Given the description of an element on the screen output the (x, y) to click on. 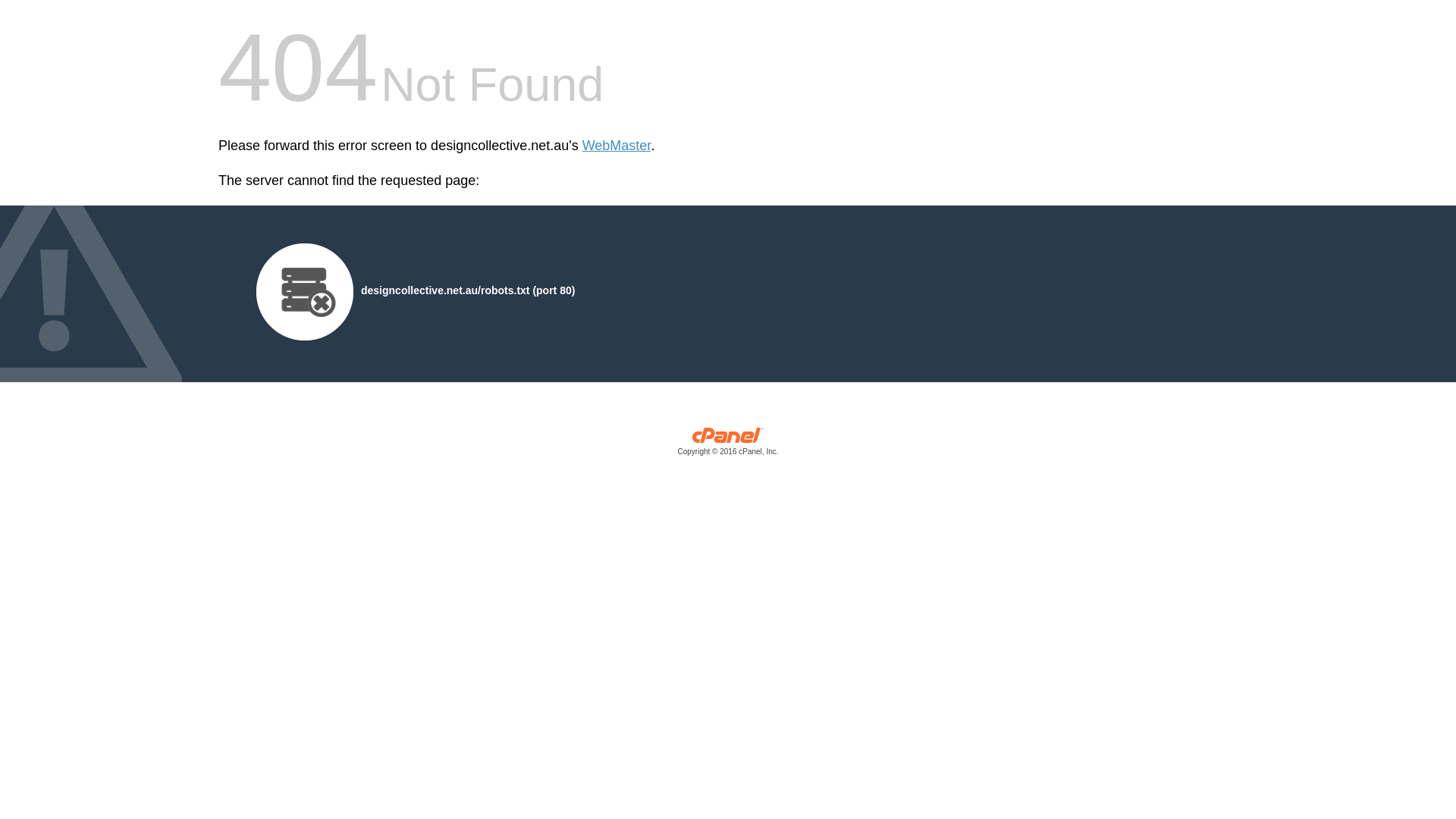
WebMaster Element type: text (616, 145)
